Given the description of an element on the screen output the (x, y) to click on. 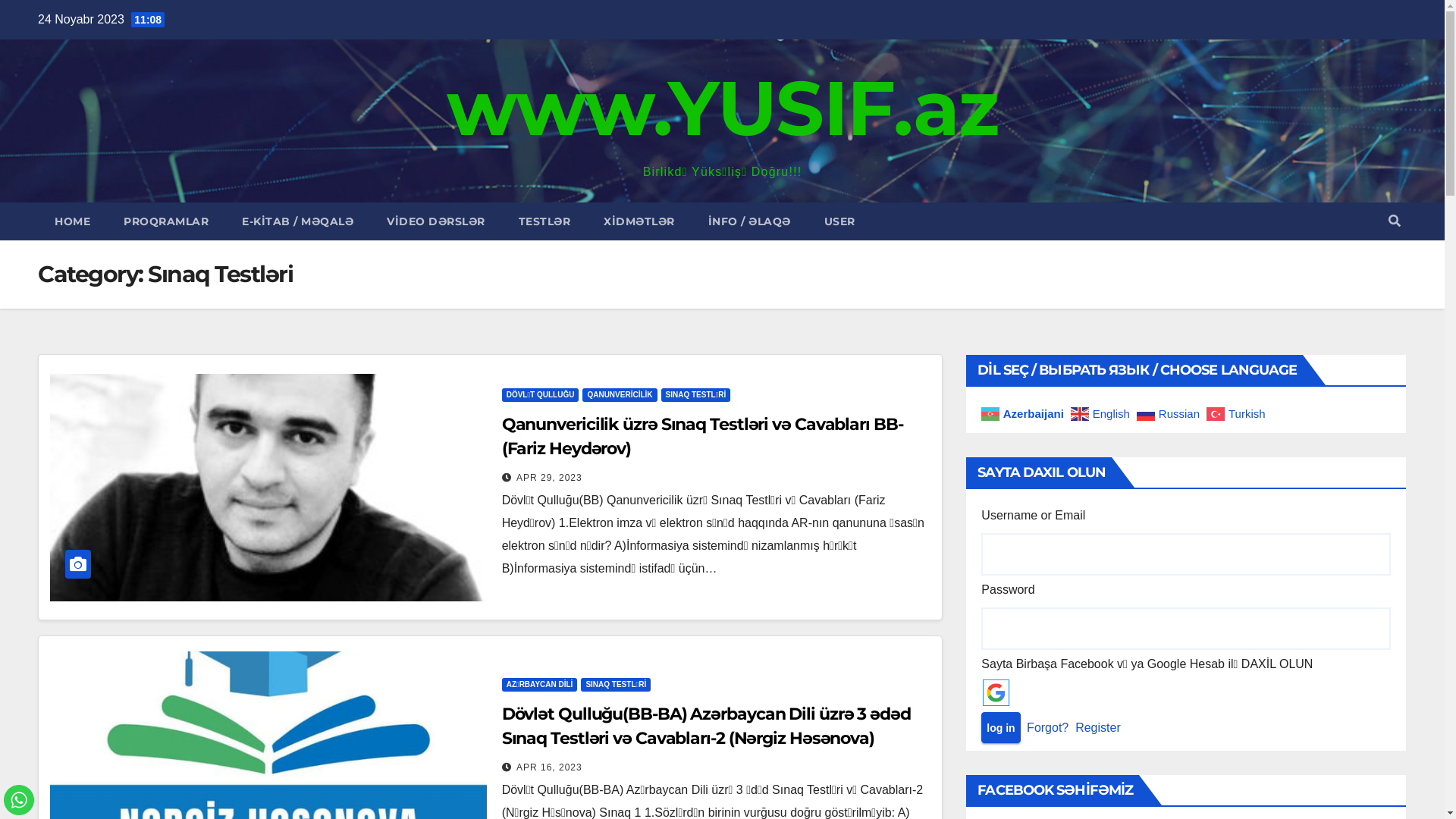
www.YUSIF.az Element type: text (722, 107)
APR 29, 2023 Element type: text (549, 477)
Turkish Element type: text (1237, 412)
Russian Element type: text (1169, 412)
APR 16, 2023 Element type: text (549, 766)
HOME Element type: text (71, 221)
USER Element type: text (838, 221)
English Element type: text (1101, 412)
log in Element type: text (1000, 727)
PROQRAMLAR Element type: text (165, 221)
QANUNVERICILIK Element type: text (619, 394)
Login with Google Element type: hover (995, 692)
Azerbaijani Element type: text (1023, 412)
Register Element type: text (1097, 727)
Forgot? Element type: text (1047, 727)
